Given the description of an element on the screen output the (x, y) to click on. 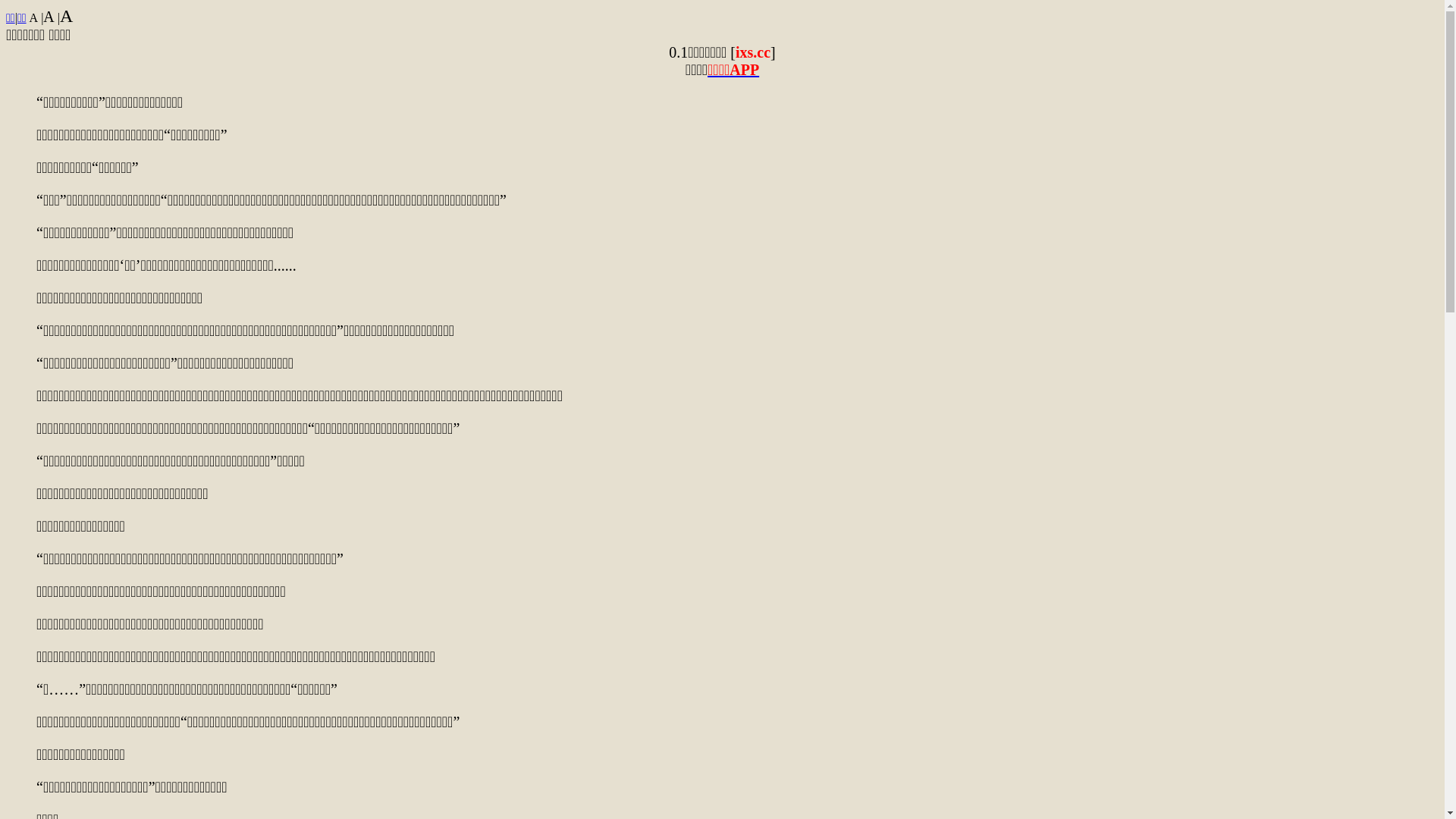
A Element type: text (65, 15)
A Element type: text (33, 17)
A Element type: text (48, 16)
